Given the description of an element on the screen output the (x, y) to click on. 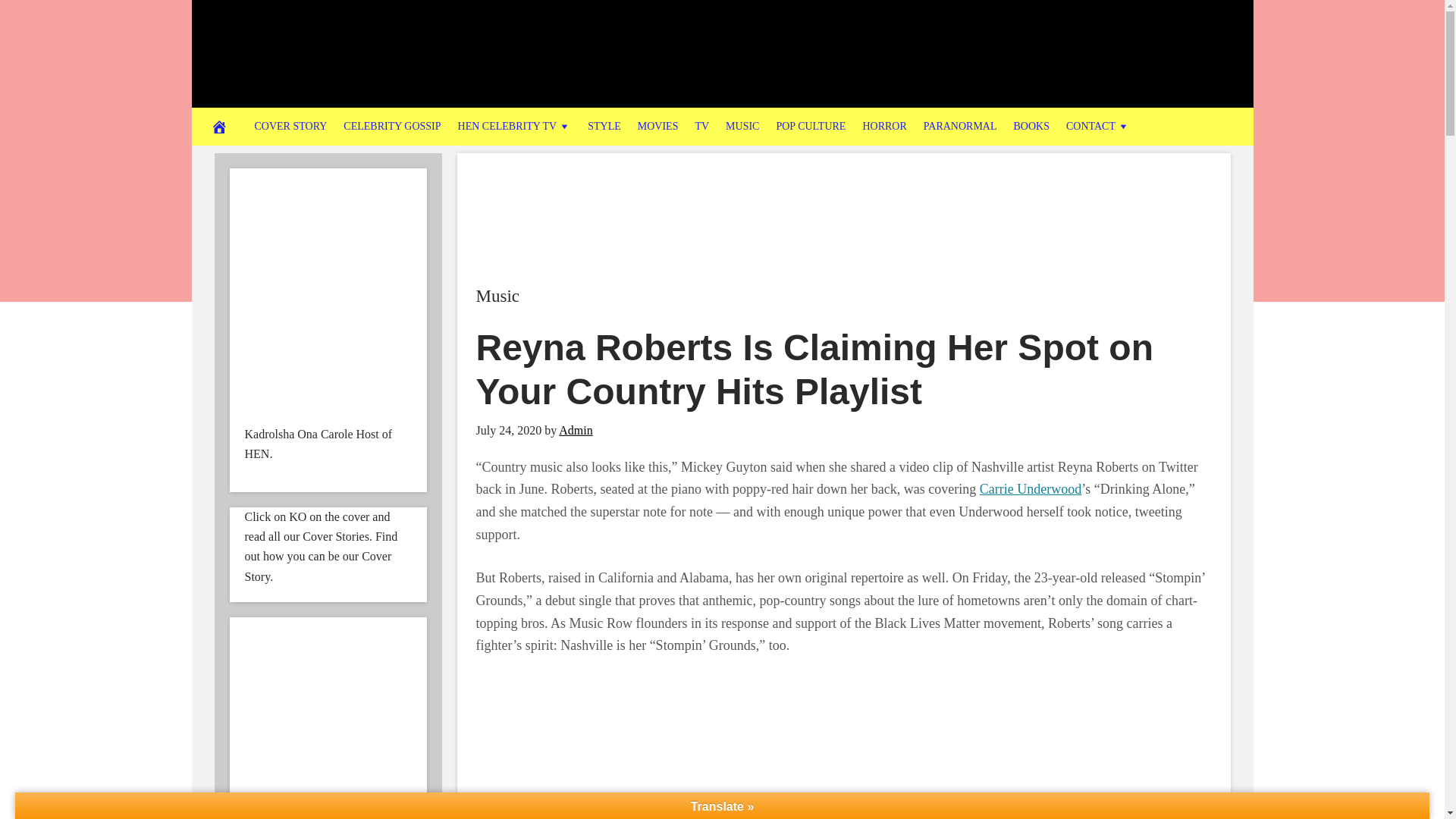
CELEBRITY GOSSIP (391, 126)
COVER STORY (290, 126)
HEN CELEBRITY TV (514, 126)
STYLE (603, 126)
Music (497, 295)
